Given the description of an element on the screen output the (x, y) to click on. 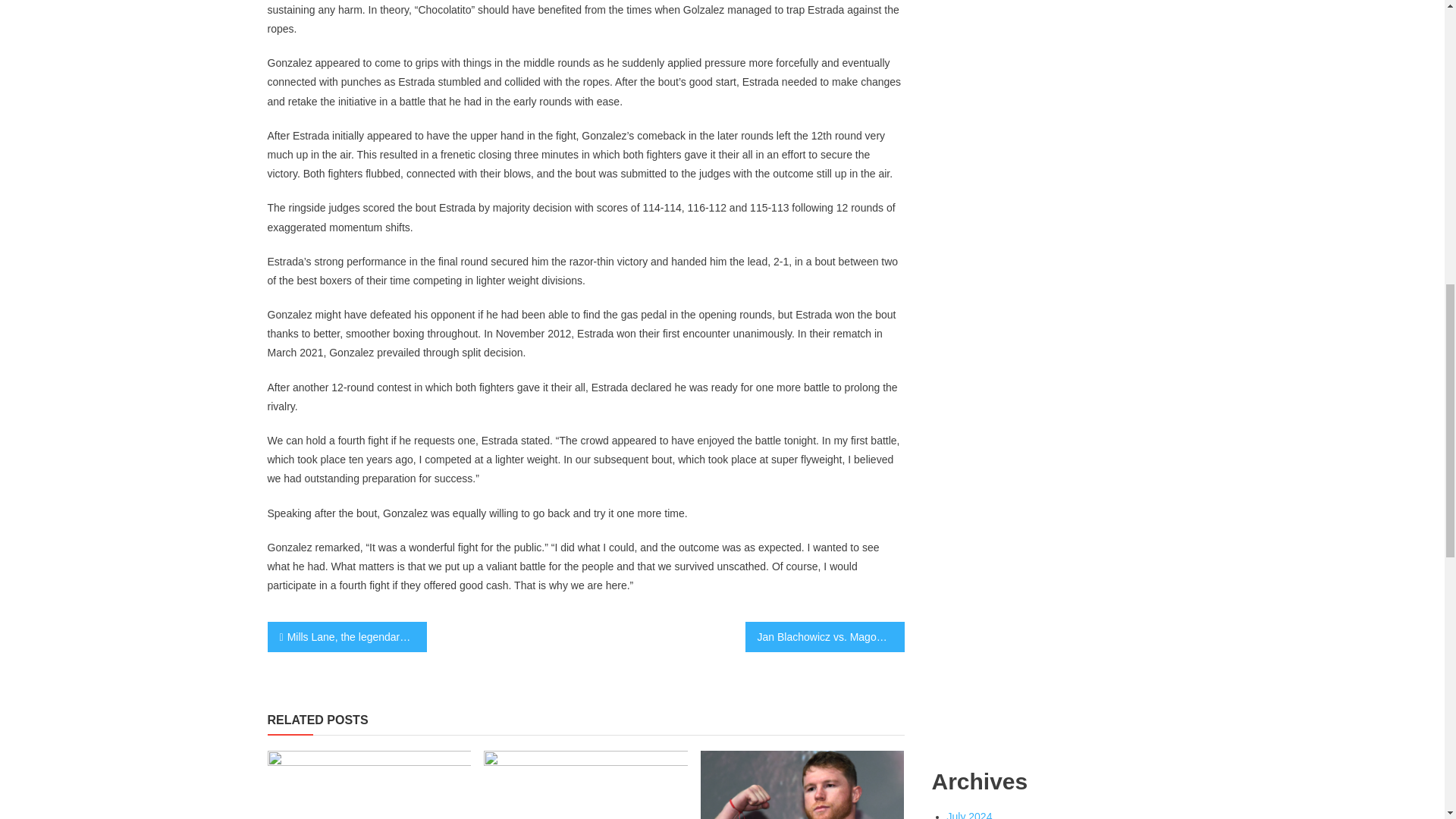
July 2024 (968, 814)
